Given the description of an element on the screen output the (x, y) to click on. 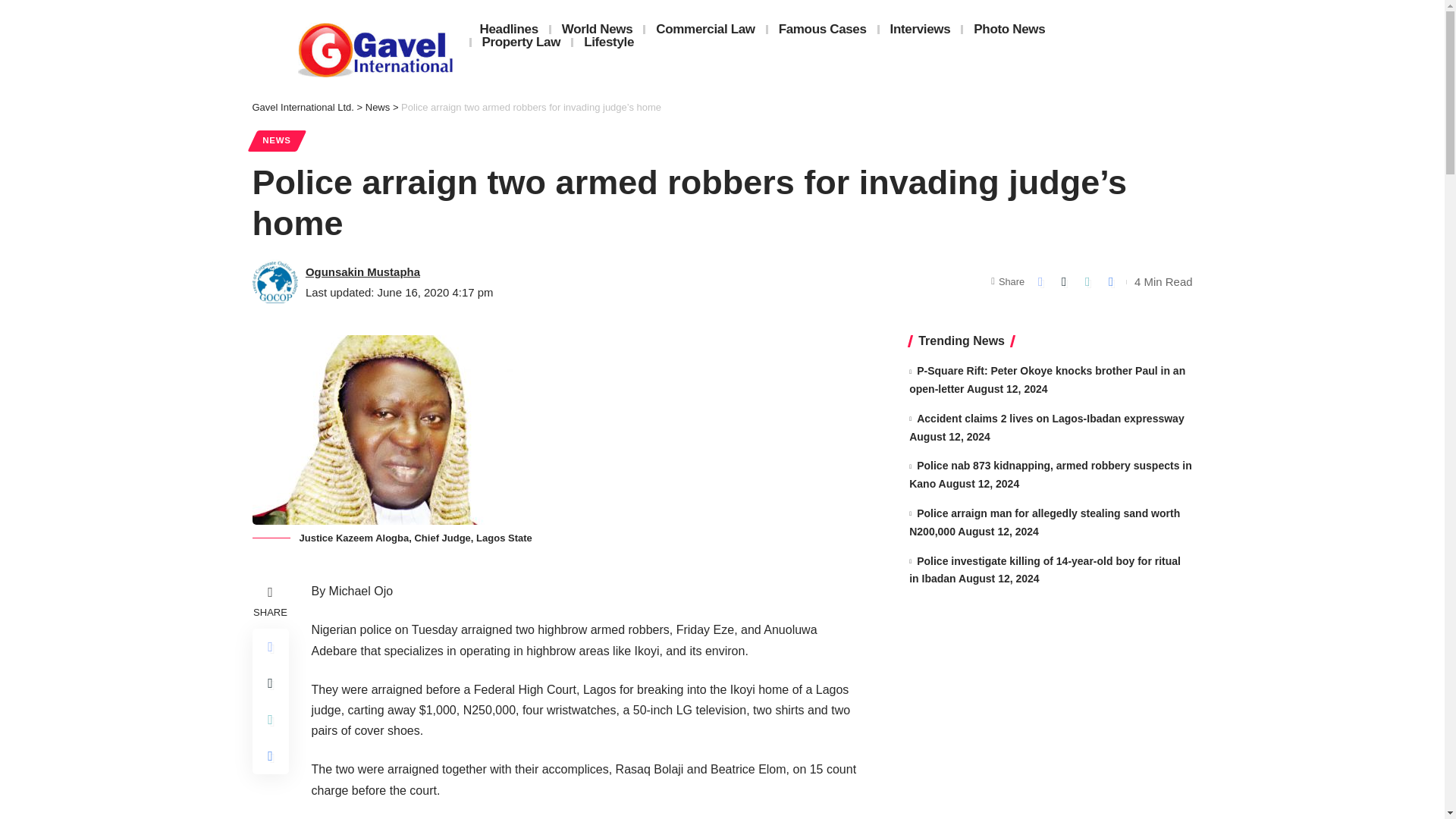
Police nab 873 kidnapping, armed robbery suspects in Kano (1050, 474)
Go to Gavel International Ltd.. (302, 107)
Headlines (508, 29)
Property Law (521, 42)
World News (597, 29)
Lifestyle (609, 42)
Interviews (919, 29)
Commercial Law (705, 29)
NEWS (276, 140)
